Given the description of an element on the screen output the (x, y) to click on. 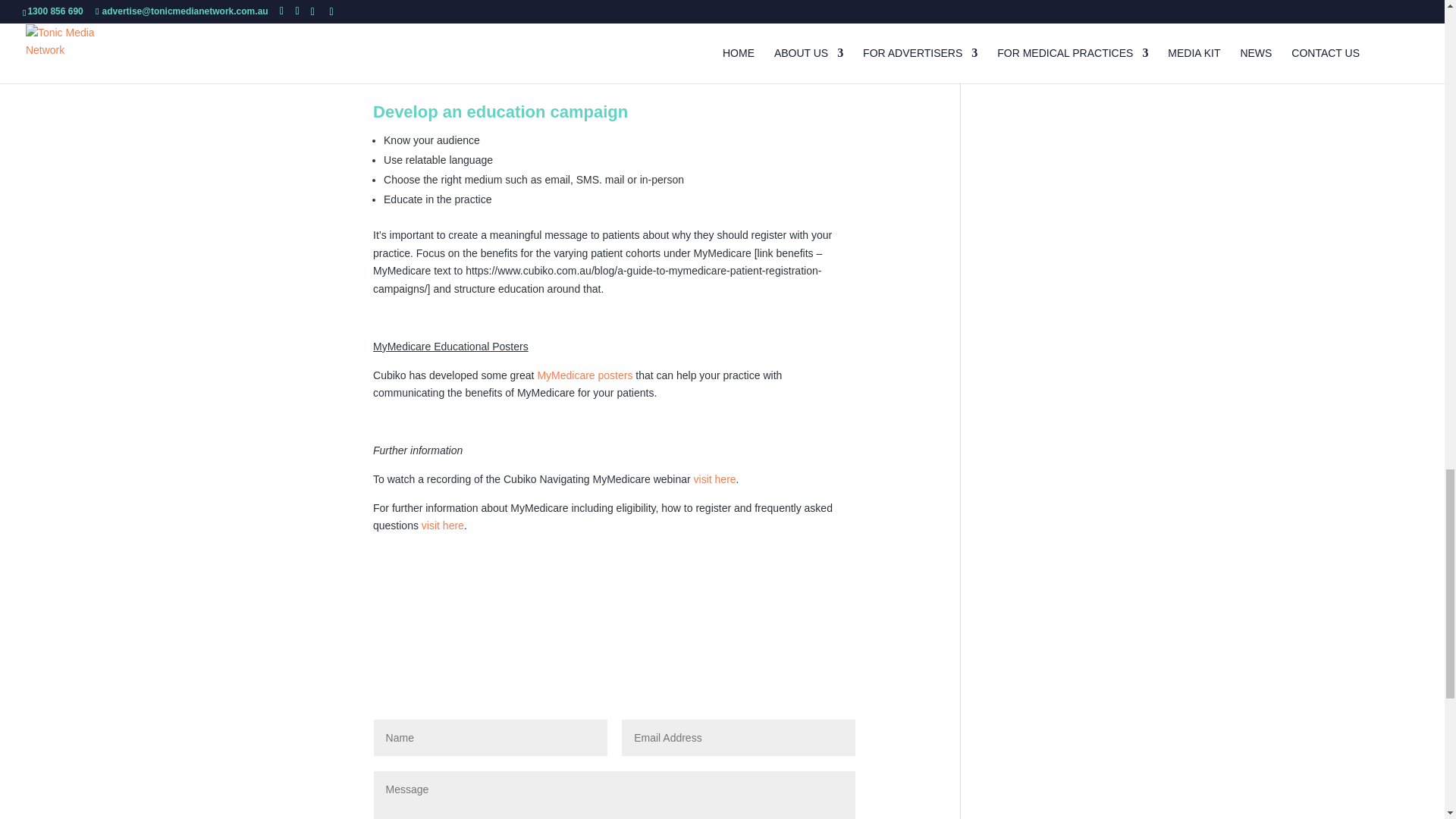
visit here (715, 479)
visit here (443, 525)
MyMedicare posters (584, 375)
